Given the description of an element on the screen output the (x, y) to click on. 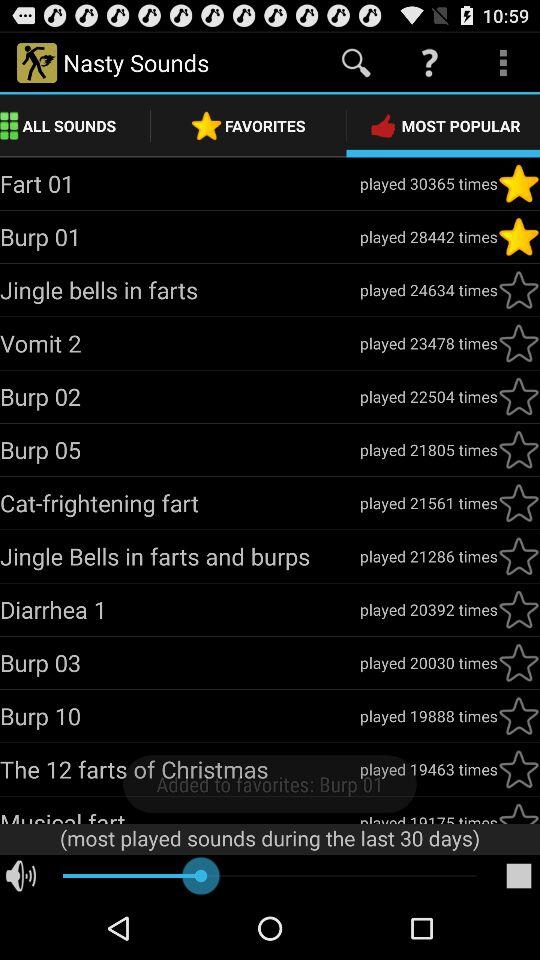
favorite vomit 2 (519, 343)
